Given the description of an element on the screen output the (x, y) to click on. 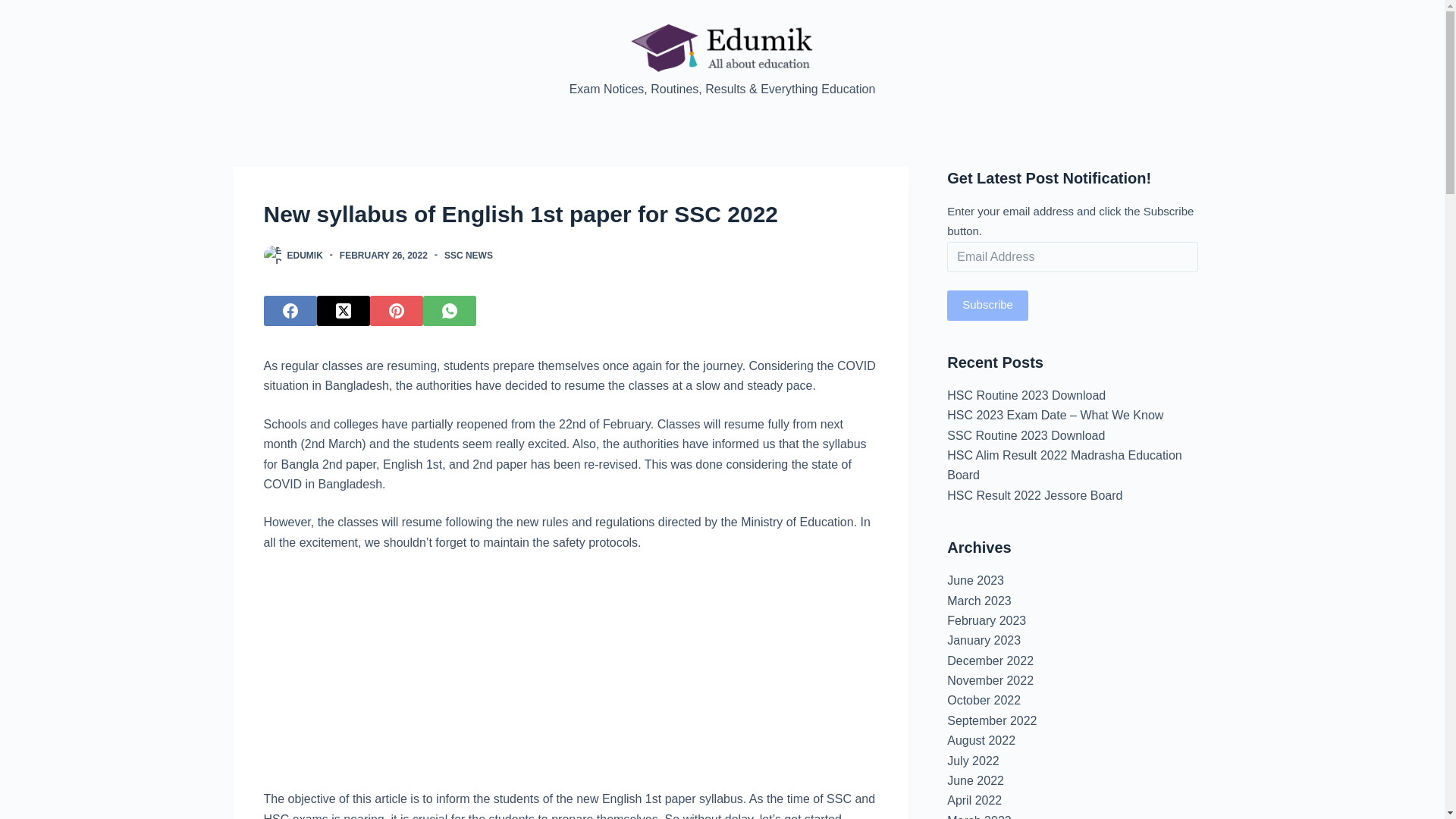
June 2022 (975, 780)
November 2022 (990, 680)
Subscribe (987, 305)
December 2022 (990, 660)
HSC Routine 2023 Download (1026, 395)
July 2022 (972, 760)
June 2023 (975, 580)
Skip to content (15, 7)
HSC Alim Result 2022 Madrasha Education Board (1064, 464)
HSC Result 2022 Jessore Board (1034, 495)
SSC NEWS (468, 255)
Advertisement (570, 676)
March 2022 (979, 816)
Posts by Edumik (303, 255)
January 2023 (983, 640)
